Given the description of an element on the screen output the (x, y) to click on. 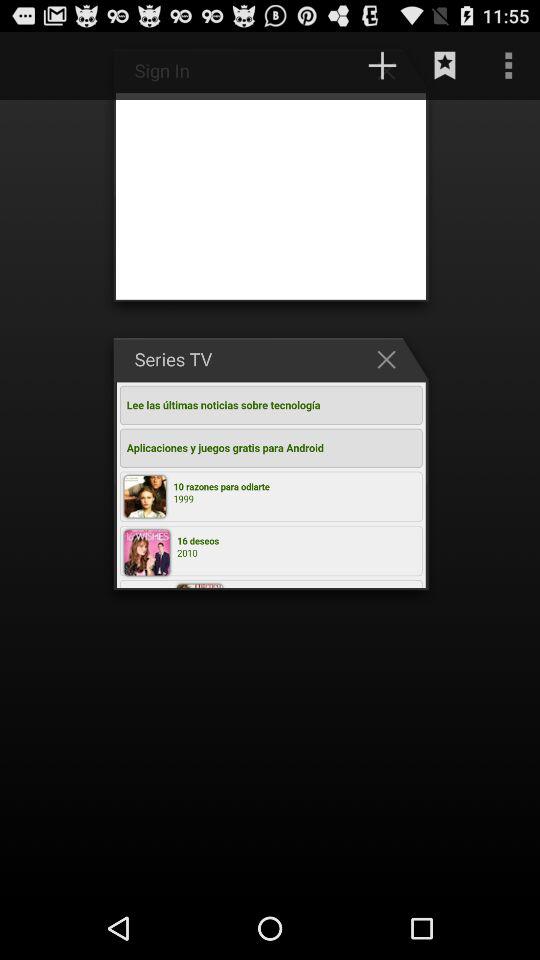
turn off the icon to the left of the http www javamovil item (41, 65)
